Given the description of an element on the screen output the (x, y) to click on. 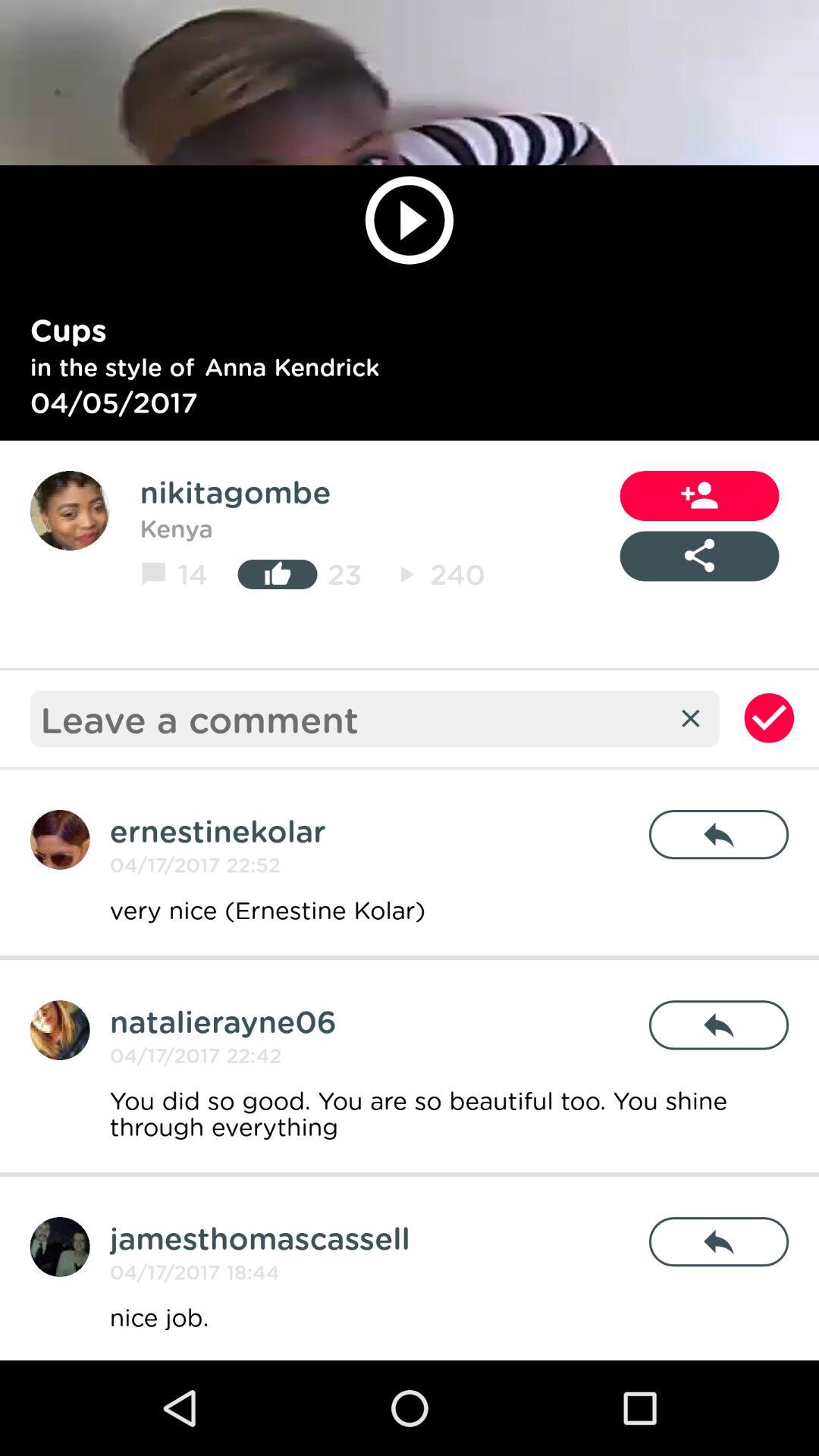
turn off the item above the 04 17 2017 icon (259, 1237)
